Given the description of an element on the screen output the (x, y) to click on. 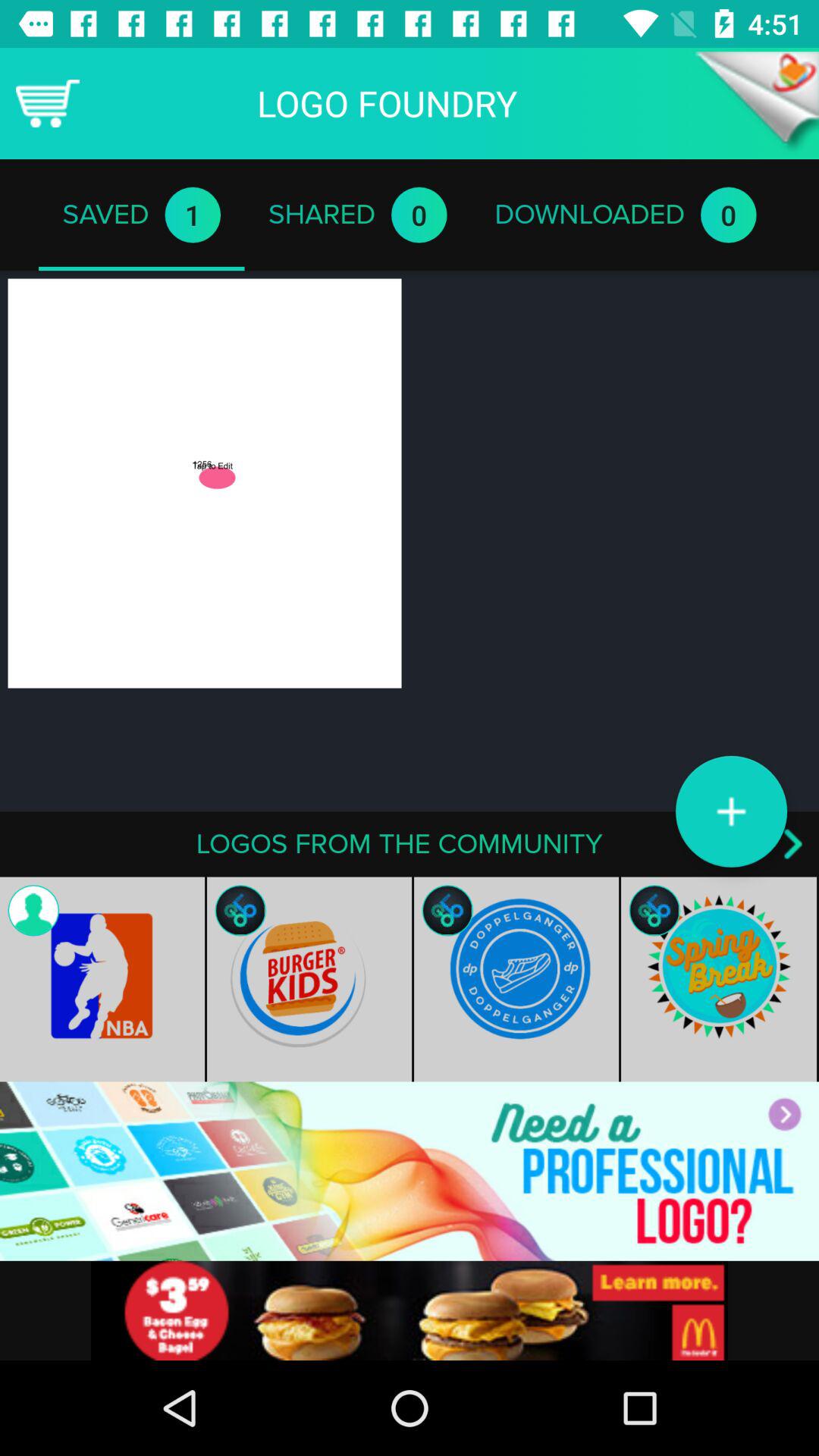
click on the contact icon (33, 910)
select the image burger kids (309, 979)
slect the image below the add button (719, 979)
click on right side image to burger kids (516, 979)
